Given the description of an element on the screen output the (x, y) to click on. 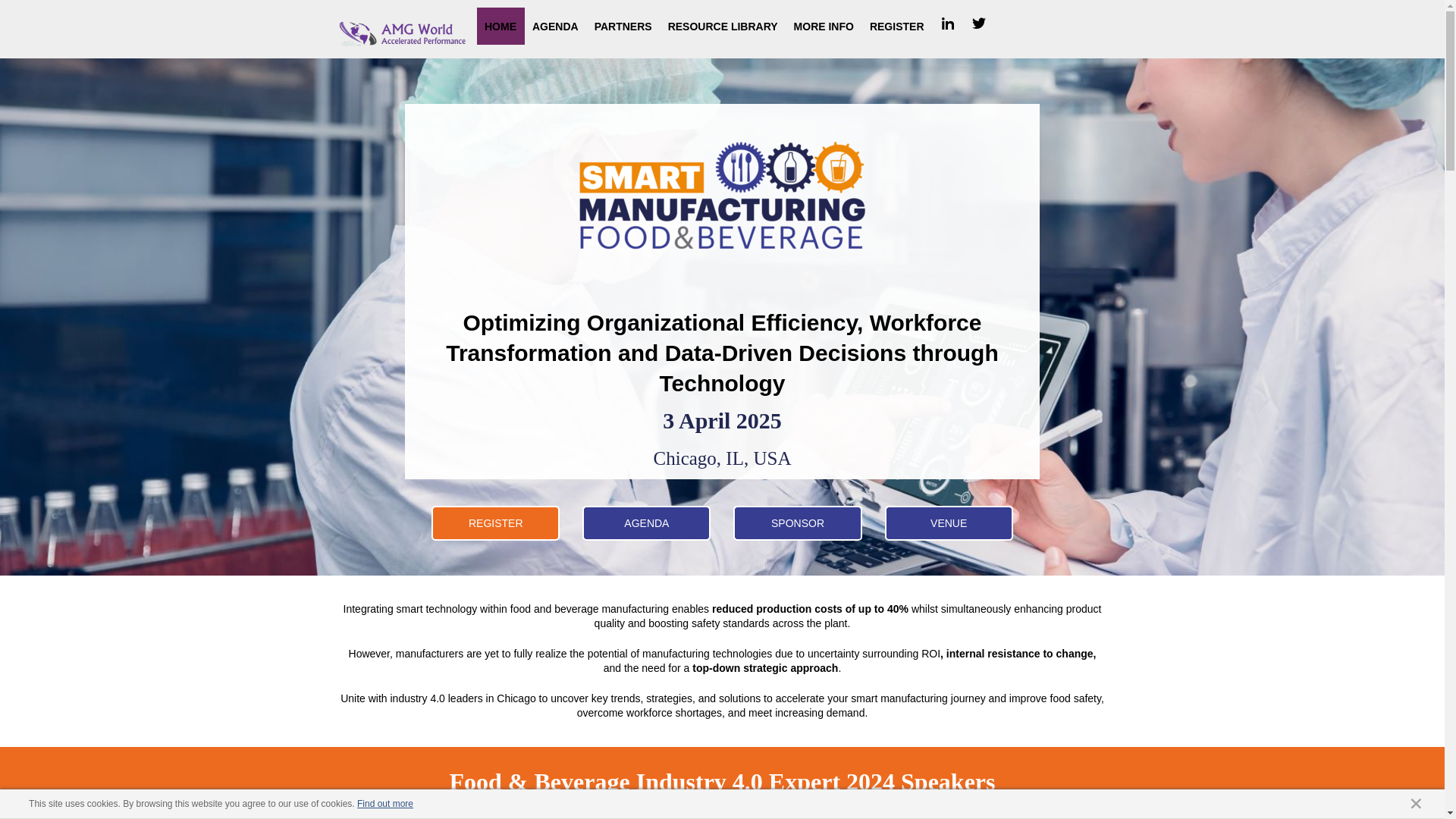
Register (797, 523)
Agenda (646, 523)
REGISTER (494, 523)
HOME (500, 26)
Register (494, 523)
Register (949, 523)
AGENDA (646, 523)
REGISTER (896, 26)
RESOURCE LIBRARY (722, 26)
AGENDA (555, 26)
PARTNERS (622, 26)
VENUE (949, 523)
MORE INFO (823, 26)
SPONSOR (797, 523)
